Given the description of an element on the screen output the (x, y) to click on. 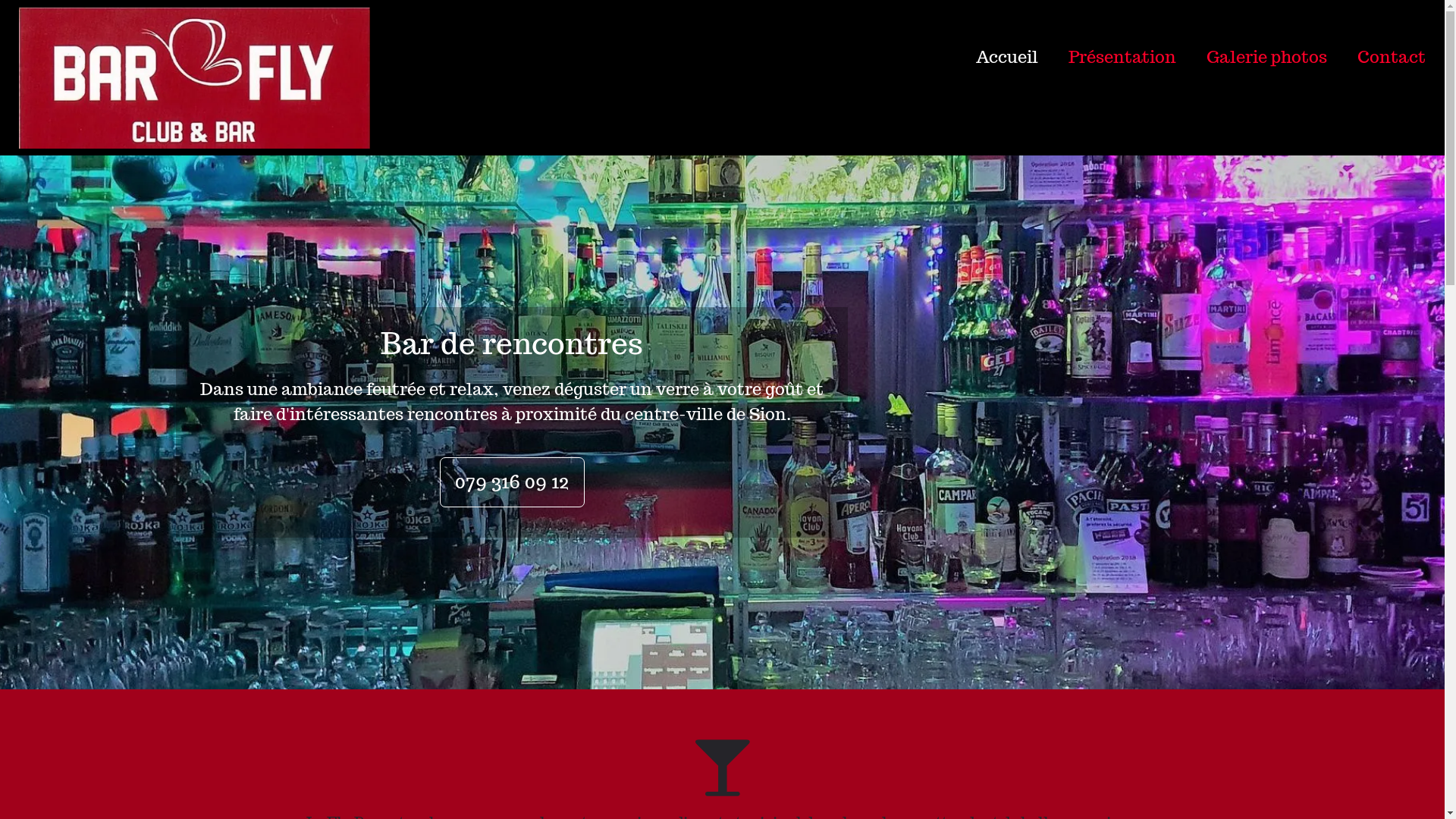
Accueil Element type: text (991, 56)
079 316 09 12 Element type: text (511, 482)
Galerie photos Element type: text (1251, 56)
Contact Element type: text (1376, 56)
